Given the description of an element on the screen output the (x, y) to click on. 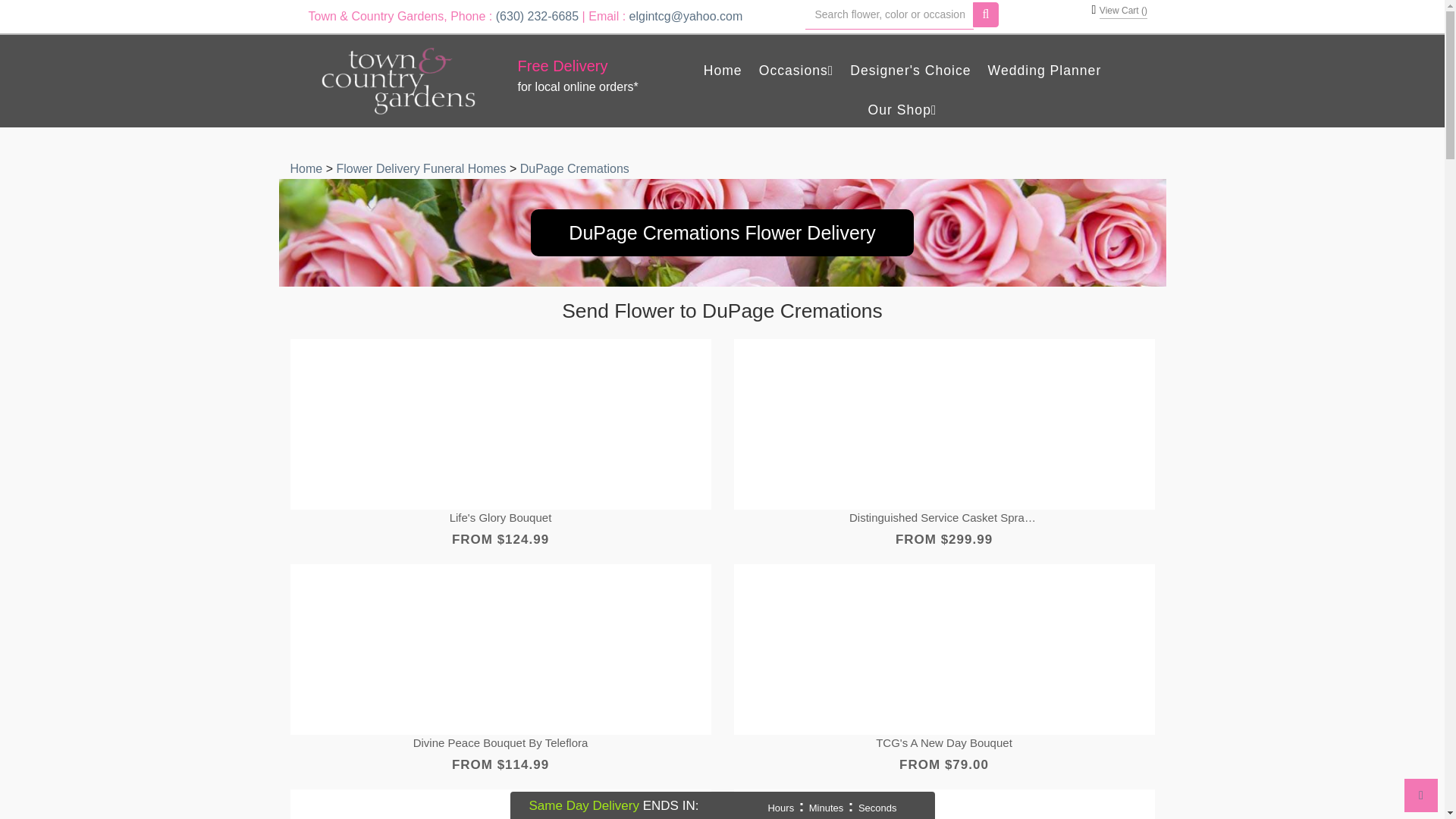
Distinguished Service Casket Spray by telefloras (943, 518)
Divine Peace Bouquet by Teleflora (500, 743)
TCG's A New Day Bouquet (943, 743)
Wedding Planner (1045, 70)
Designer's Choice (910, 70)
Life's Glory Bouquet (500, 518)
Home (306, 168)
Home (722, 70)
Occasions (796, 70)
DuPage Cremations (573, 168)
Our Shop (902, 110)
funeral-homes-flower-delivery (422, 168)
